Given the description of an element on the screen output the (x, y) to click on. 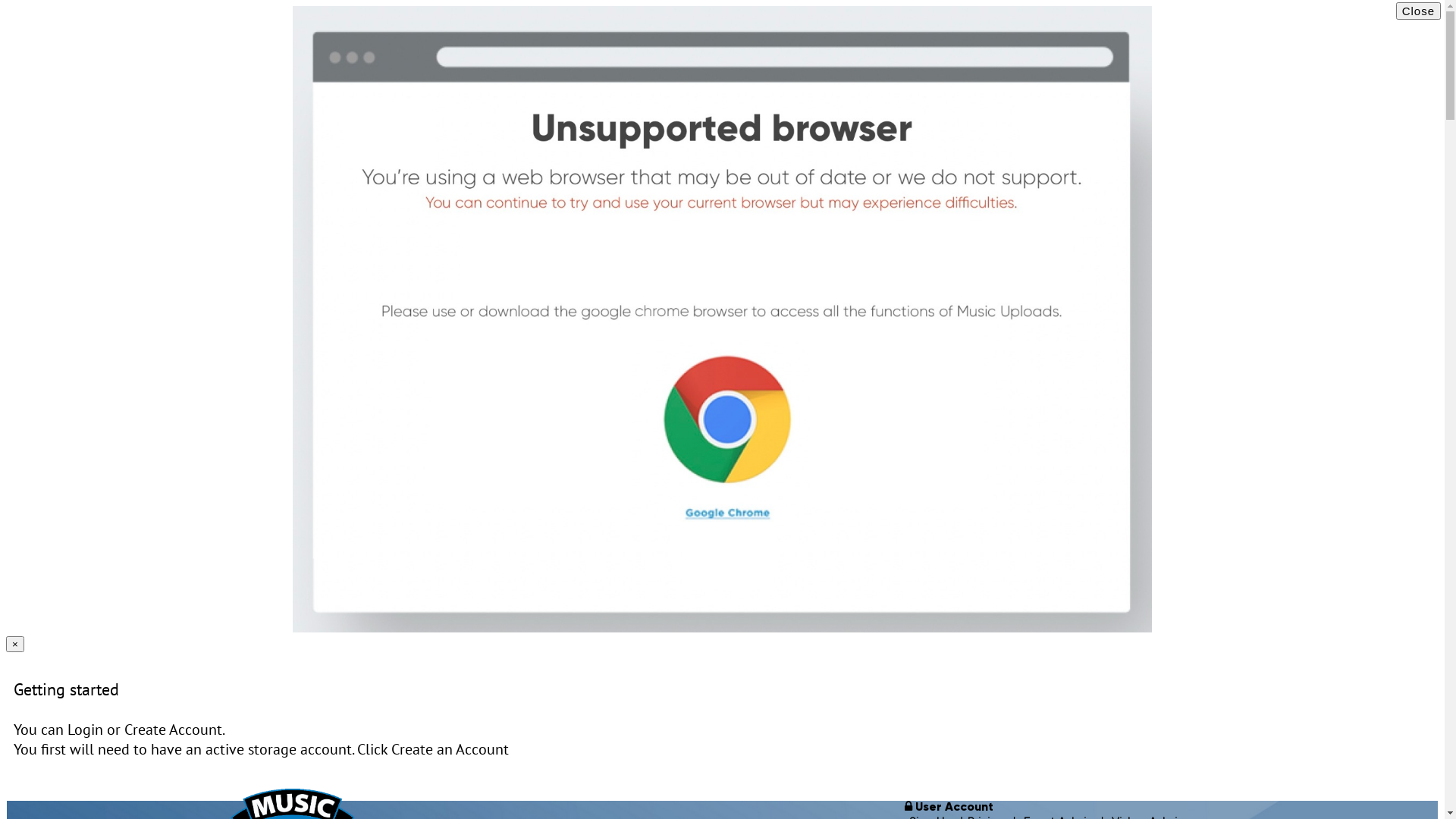
MilleniumDevelopers Element type: text (1391, 81)
Close Element type: text (1418, 10)
